Given the description of an element on the screen output the (x, y) to click on. 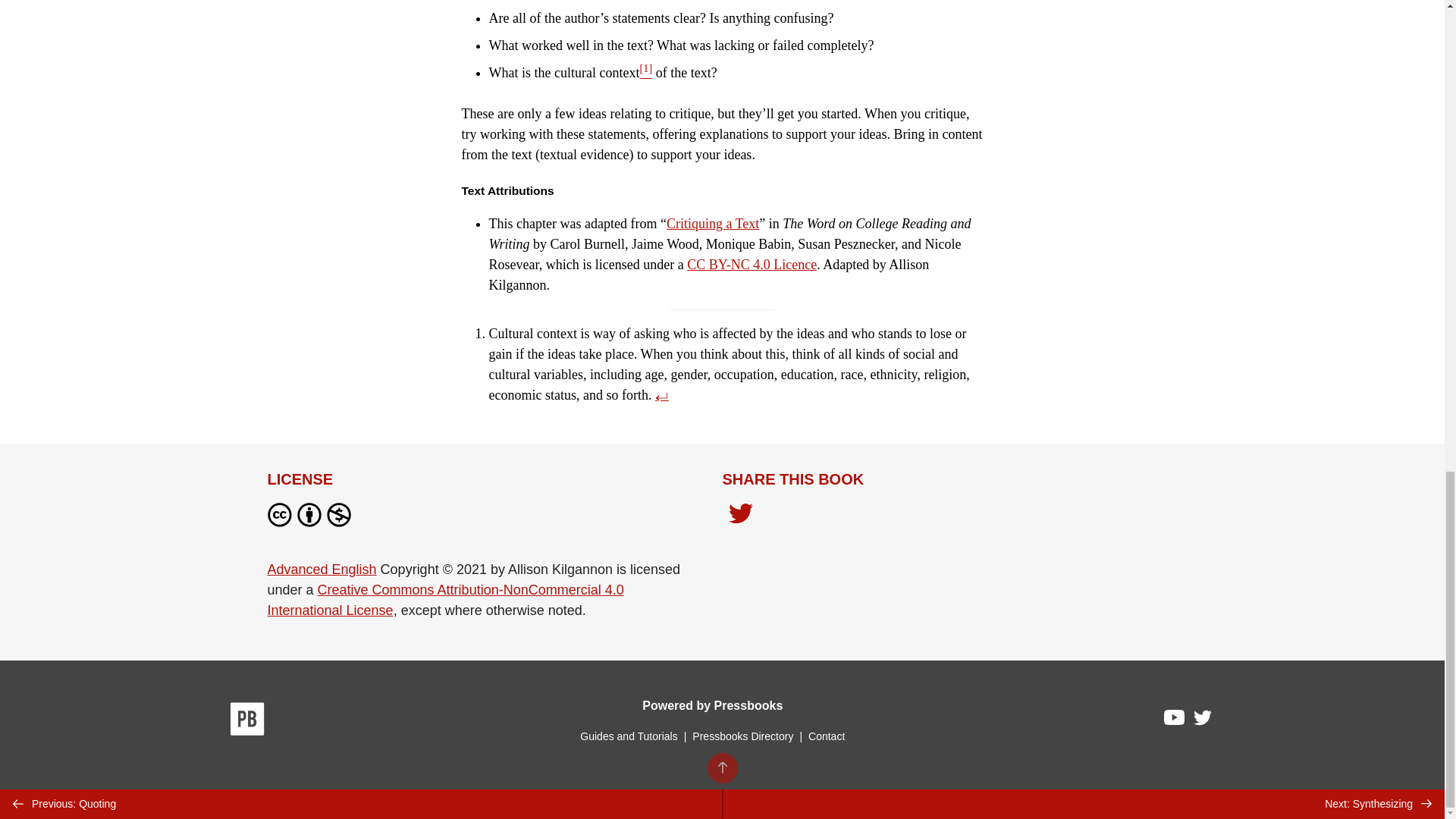
Share on Twitter (740, 514)
Share on Twitter (740, 517)
Pressbooks Directory (742, 736)
Guides and Tutorials (627, 736)
Critiquing a Text (712, 223)
Advanced English (320, 569)
Contact (826, 736)
CC BY-NC 4.0 Licence (751, 264)
Pressbooks on YouTube (1174, 721)
Powered by Pressbooks (712, 705)
